Given the description of an element on the screen output the (x, y) to click on. 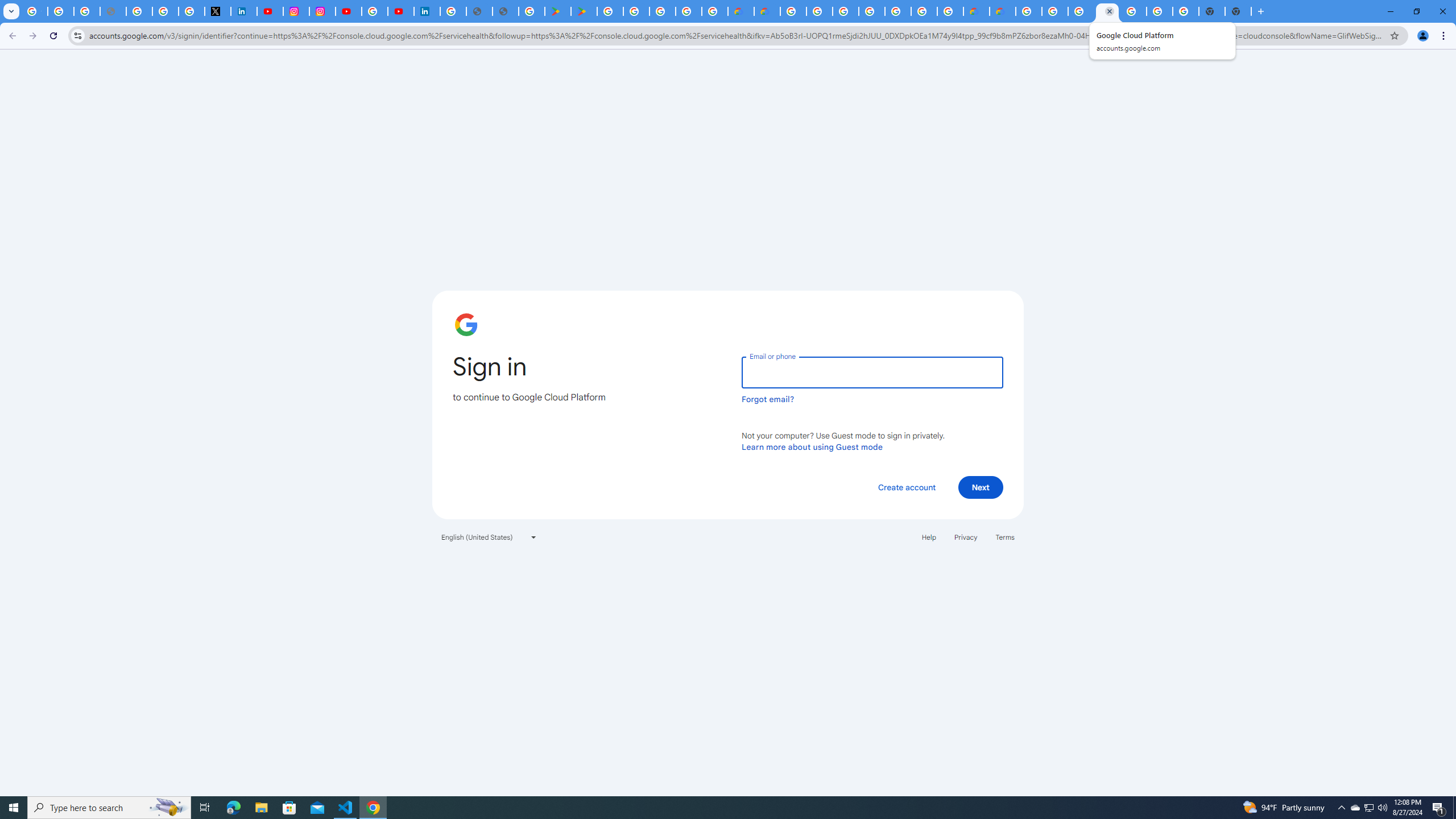
Google Cloud Estimate Summary (1002, 11)
Privacy Help Center - Policies Help (138, 11)
Sign in - Google Accounts (374, 11)
Sign in - Google Accounts (845, 11)
New Tab (1238, 11)
Google Cloud Platform (1107, 11)
